Given the description of an element on the screen output the (x, y) to click on. 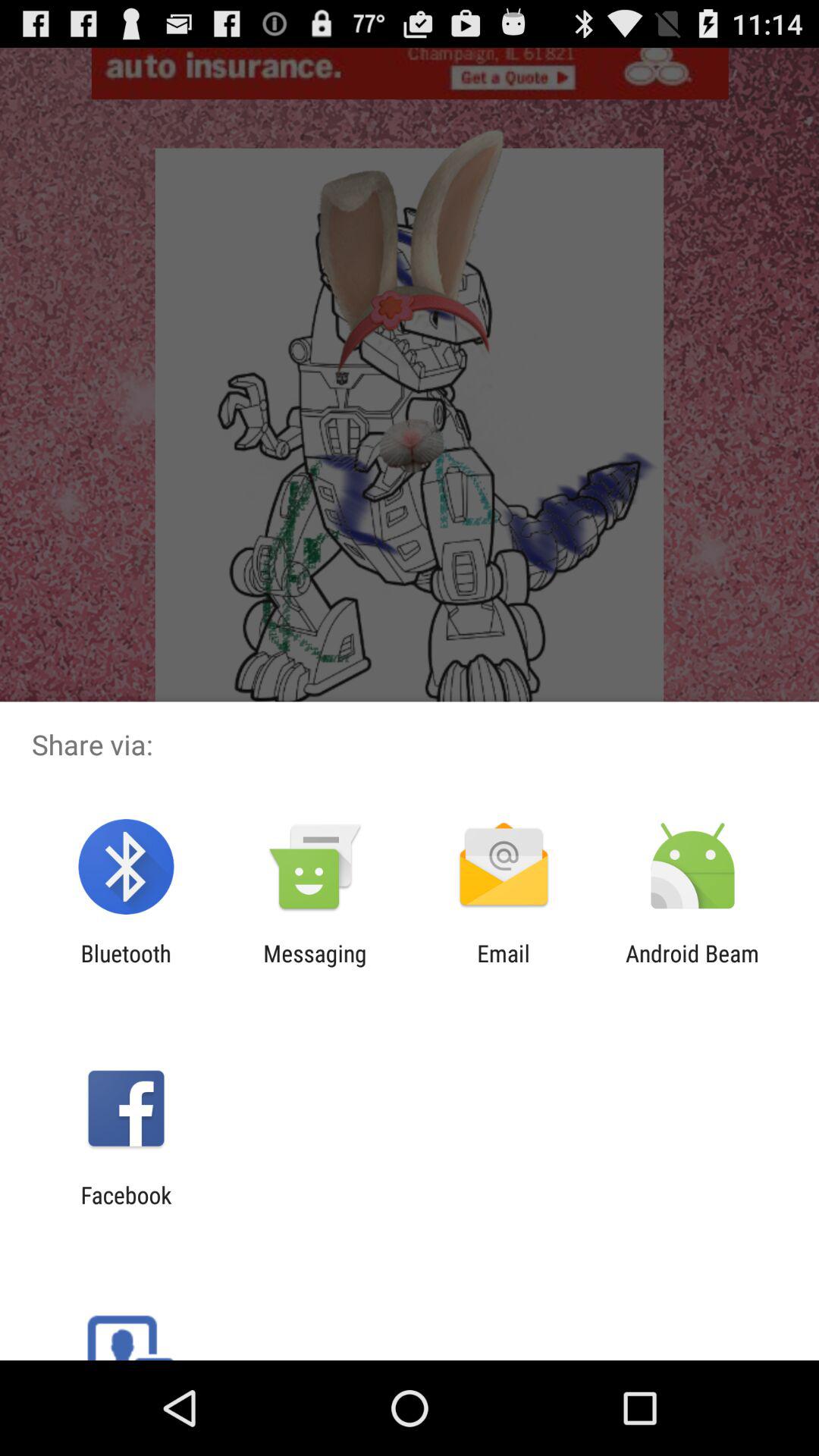
choose the item next to messaging item (125, 966)
